Given the description of an element on the screen output the (x, y) to click on. 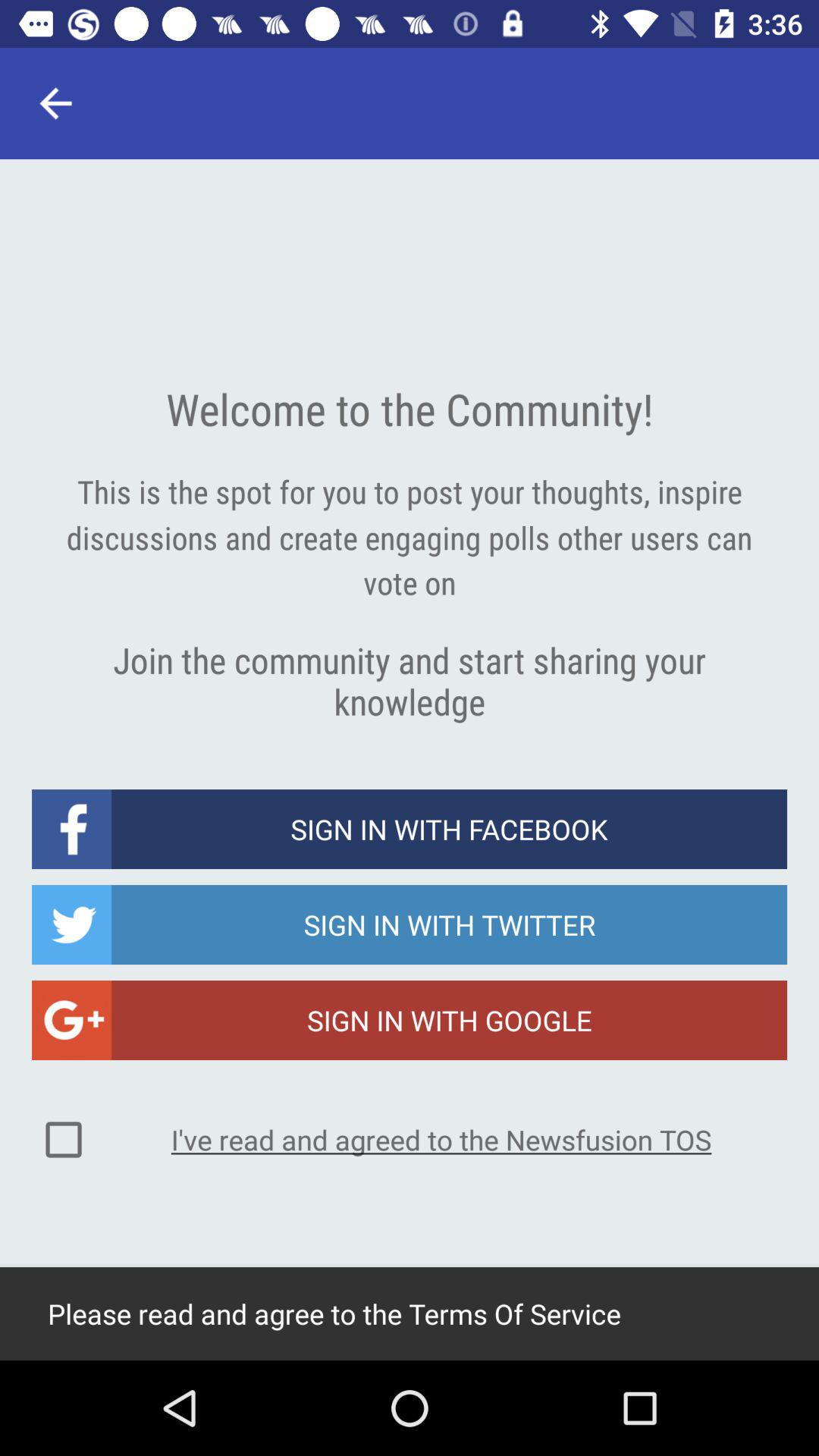
turn off the icon above the please read and (441, 1139)
